Given the description of an element on the screen output the (x, y) to click on. 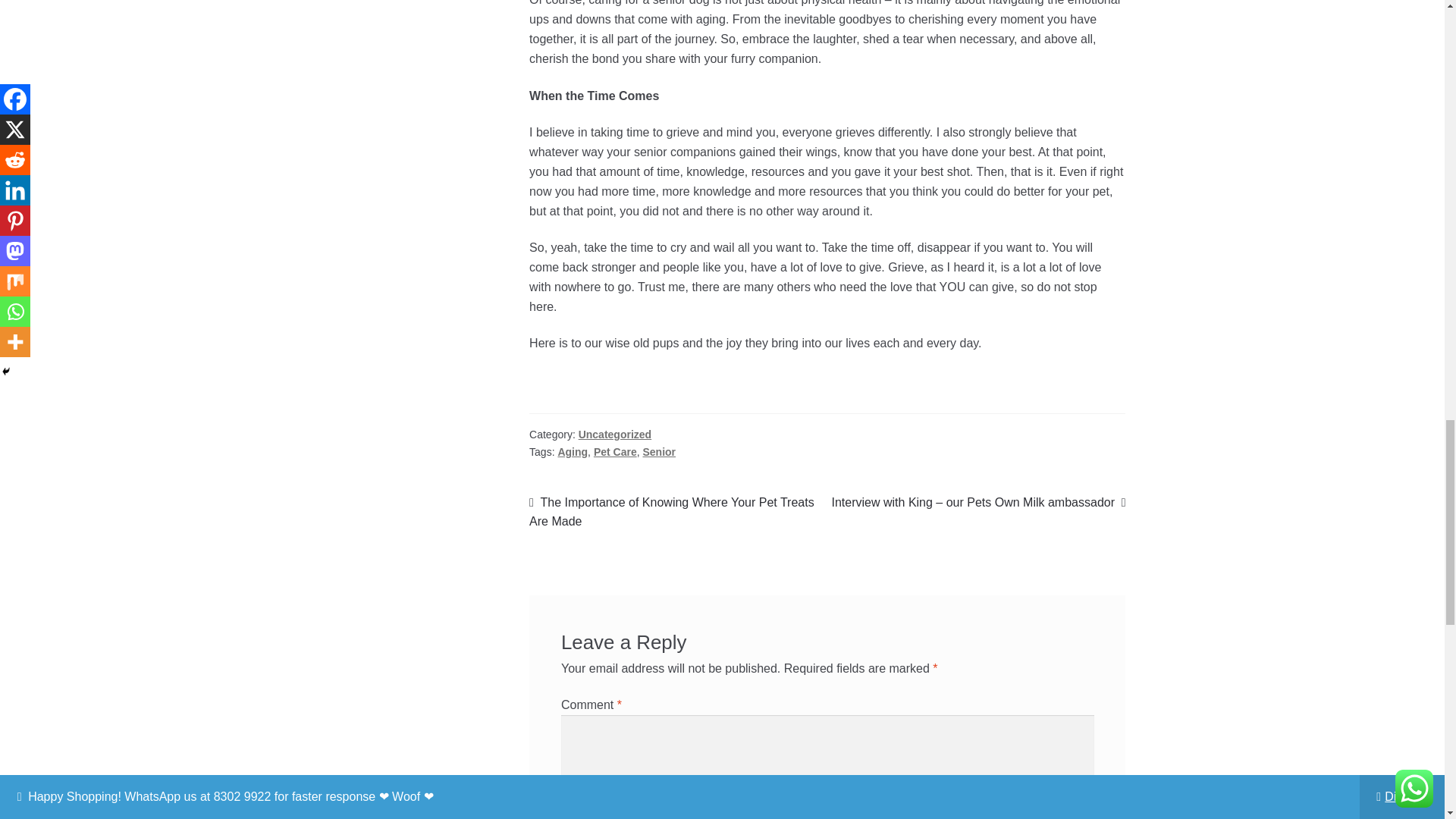
Senior (658, 451)
Pet Care (615, 451)
Uncategorized (614, 434)
Aging (572, 451)
